Given the description of an element on the screen output the (x, y) to click on. 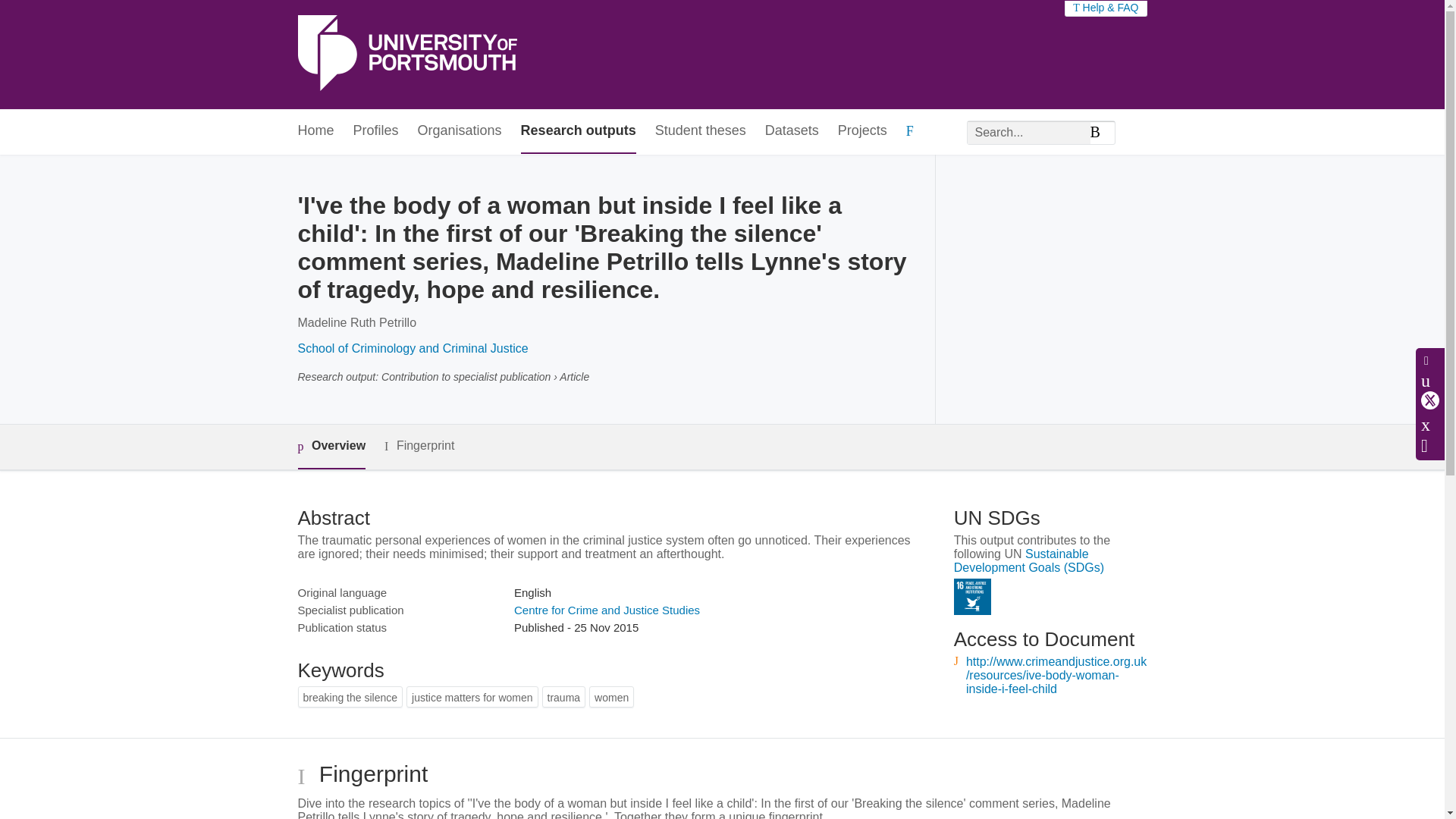
Organisations (459, 130)
Overview (331, 447)
Projects (862, 130)
University of Portsmouth Home (406, 54)
School of Criminology and Criminal Justice (412, 348)
Student theses (700, 130)
Profiles (375, 130)
Datasets (791, 130)
SDG 16 - Peace, Justice and Strong Institutions (972, 596)
